Given the description of an element on the screen output the (x, y) to click on. 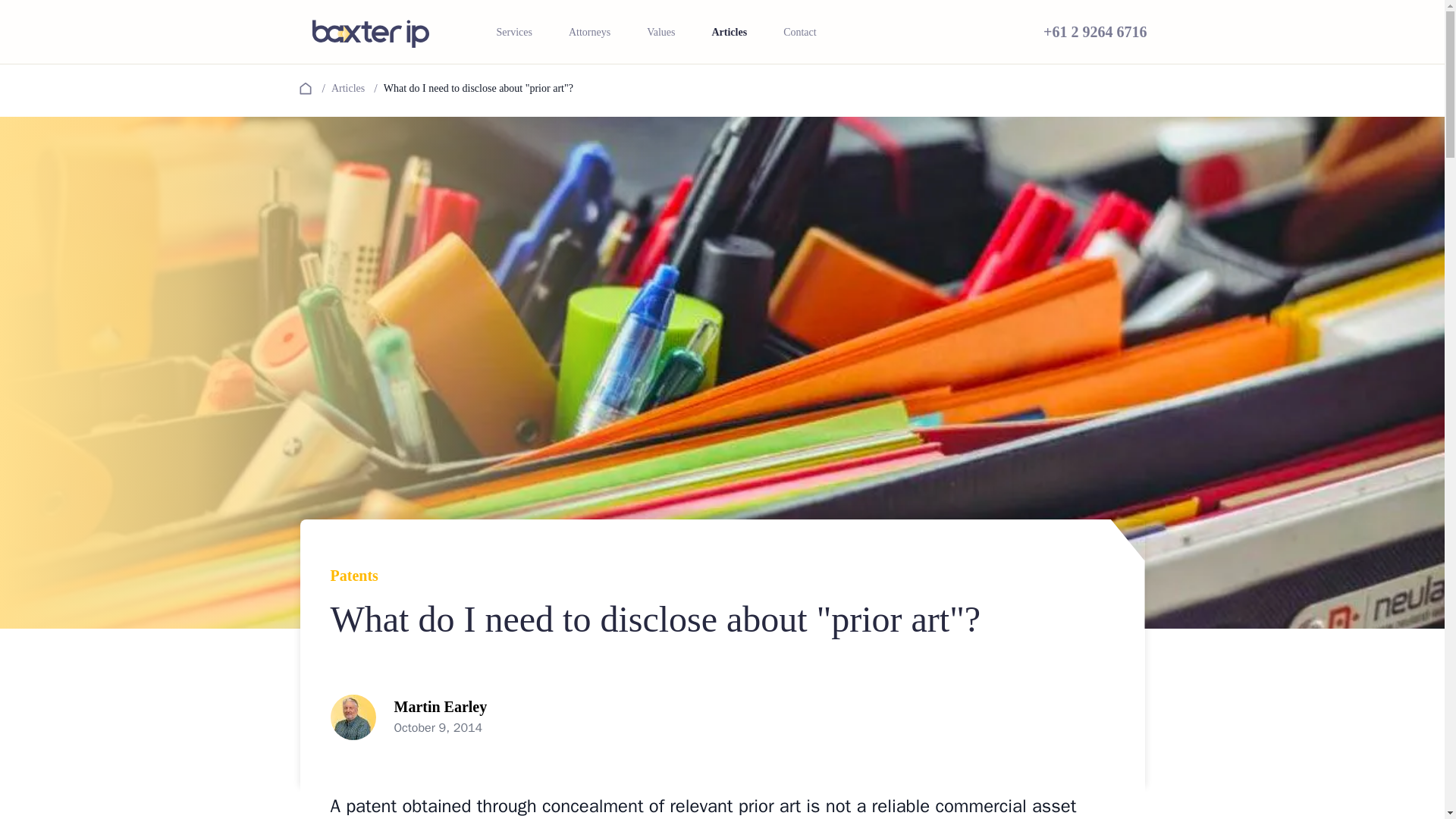
What do I need to disclose about "prior art"? (475, 88)
Articles (728, 32)
Attorneys (589, 32)
Values (660, 32)
Services (513, 32)
Articles (344, 88)
Contact (799, 32)
